Given the description of an element on the screen output the (x, y) to click on. 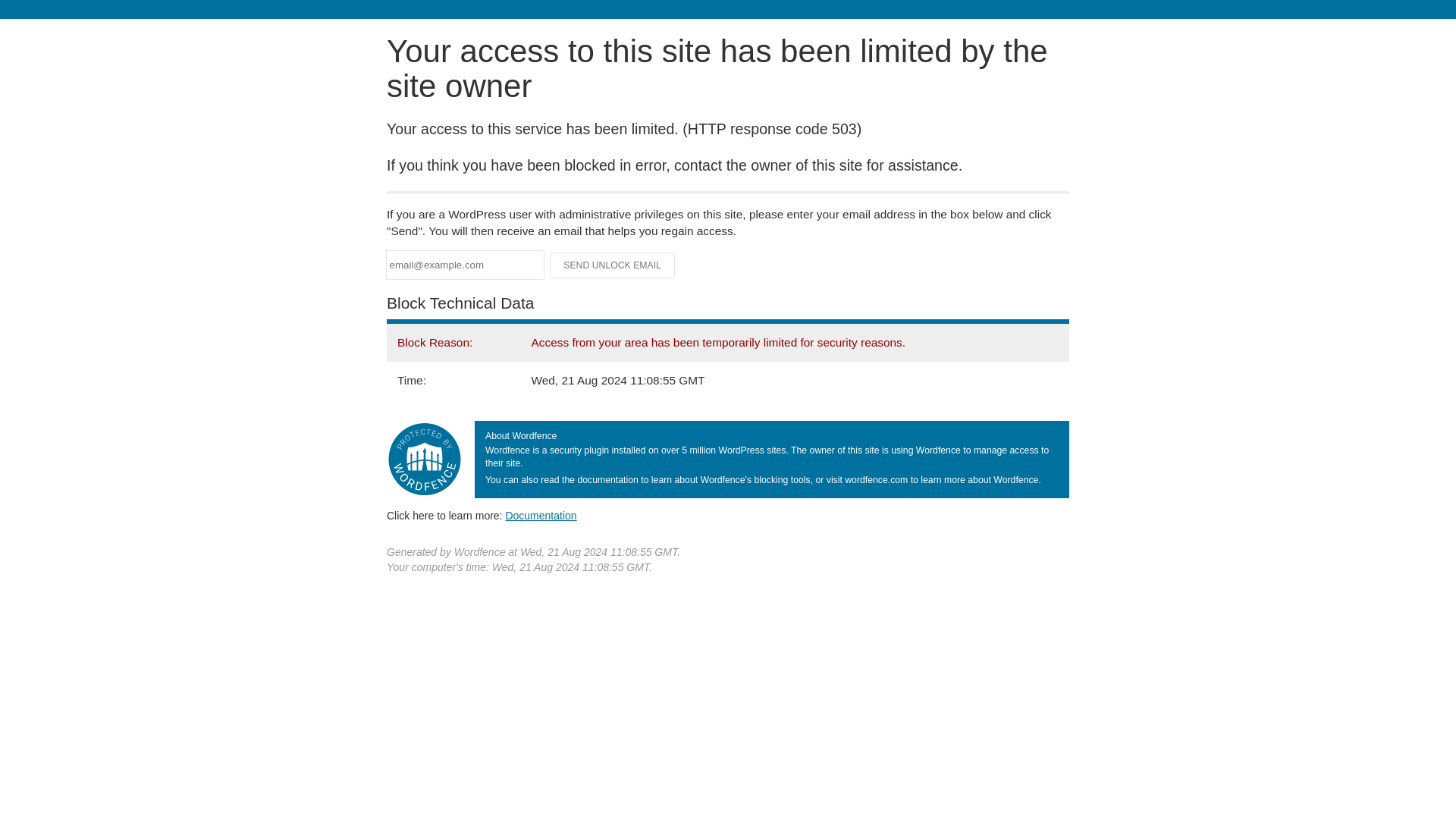
Send Unlock Email (612, 265)
Send Unlock Email (612, 265)
Documentation (540, 515)
